Given the description of an element on the screen output the (x, y) to click on. 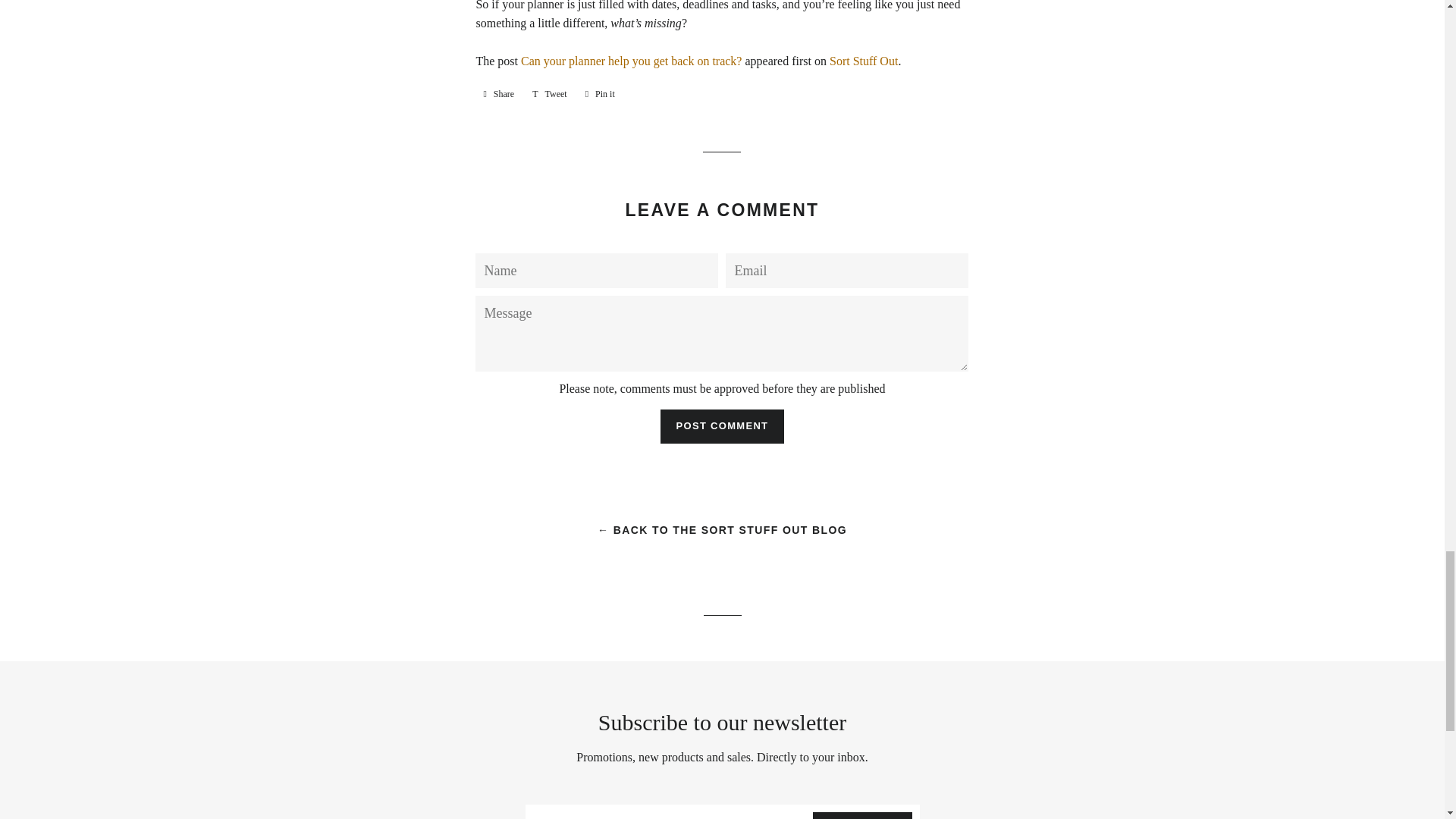
Pin on Pinterest (600, 93)
Post comment (722, 426)
Tweet on Twitter (549, 93)
Share on Facebook (498, 93)
